Given the description of an element on the screen output the (x, y) to click on. 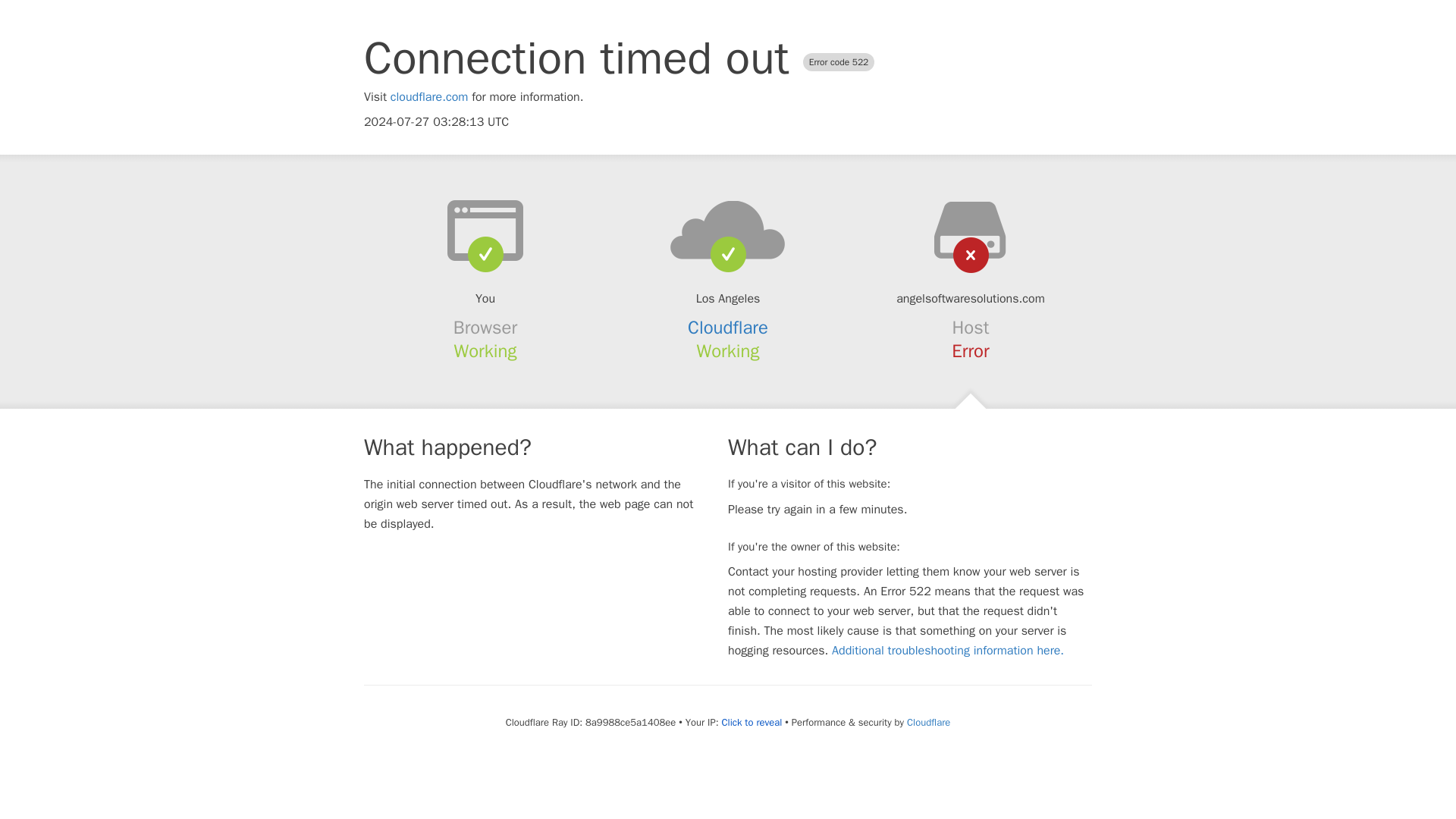
Additional troubleshooting information here. (947, 650)
Cloudflare (928, 721)
cloudflare.com (429, 96)
Cloudflare (727, 327)
Click to reveal (750, 722)
